Given the description of an element on the screen output the (x, y) to click on. 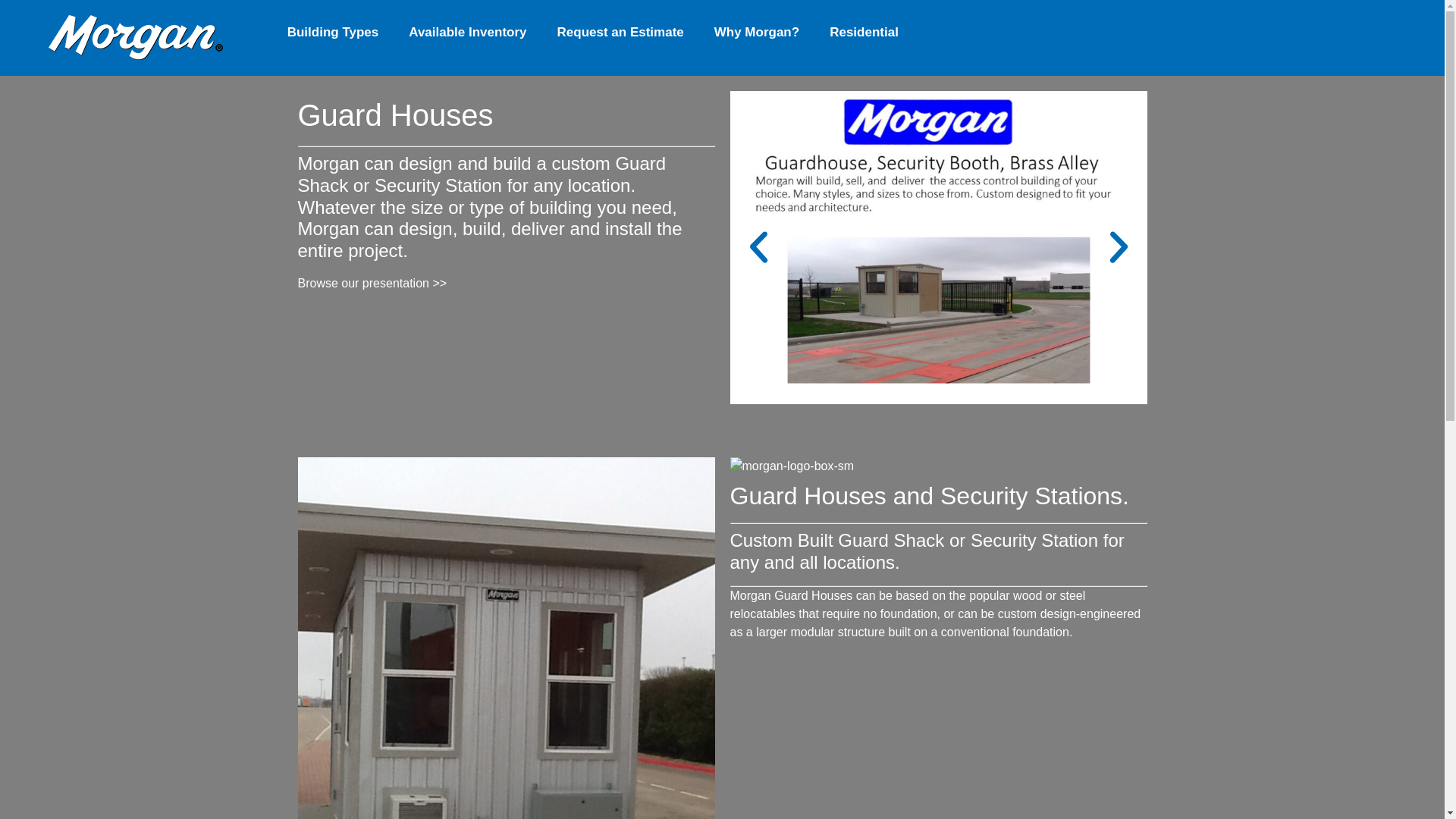
Residential (863, 32)
Building Types (333, 32)
Available Inventory (467, 32)
Why Morgan? (755, 32)
Request an Estimate (619, 32)
